Given the description of an element on the screen output the (x, y) to click on. 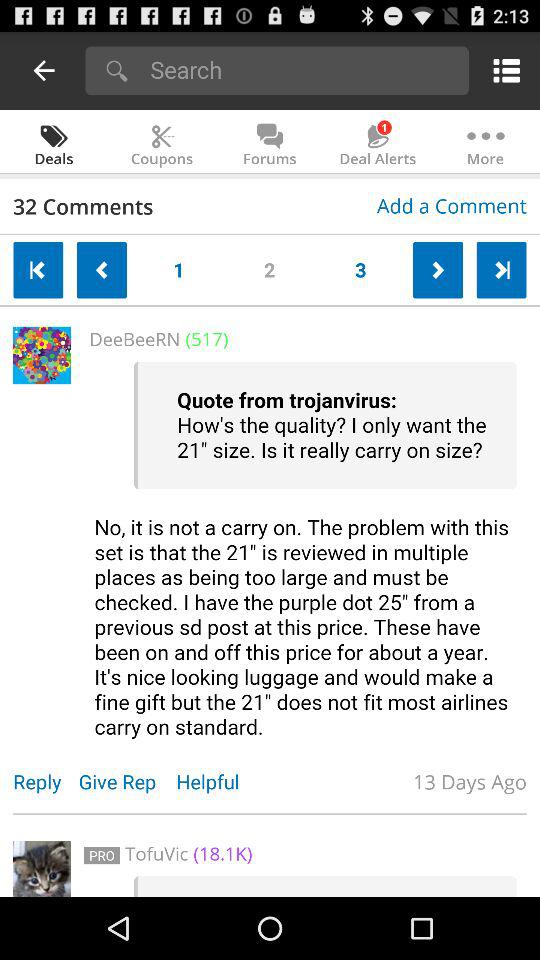
turn on the 3 button (360, 266)
